Given the description of an element on the screen output the (x, y) to click on. 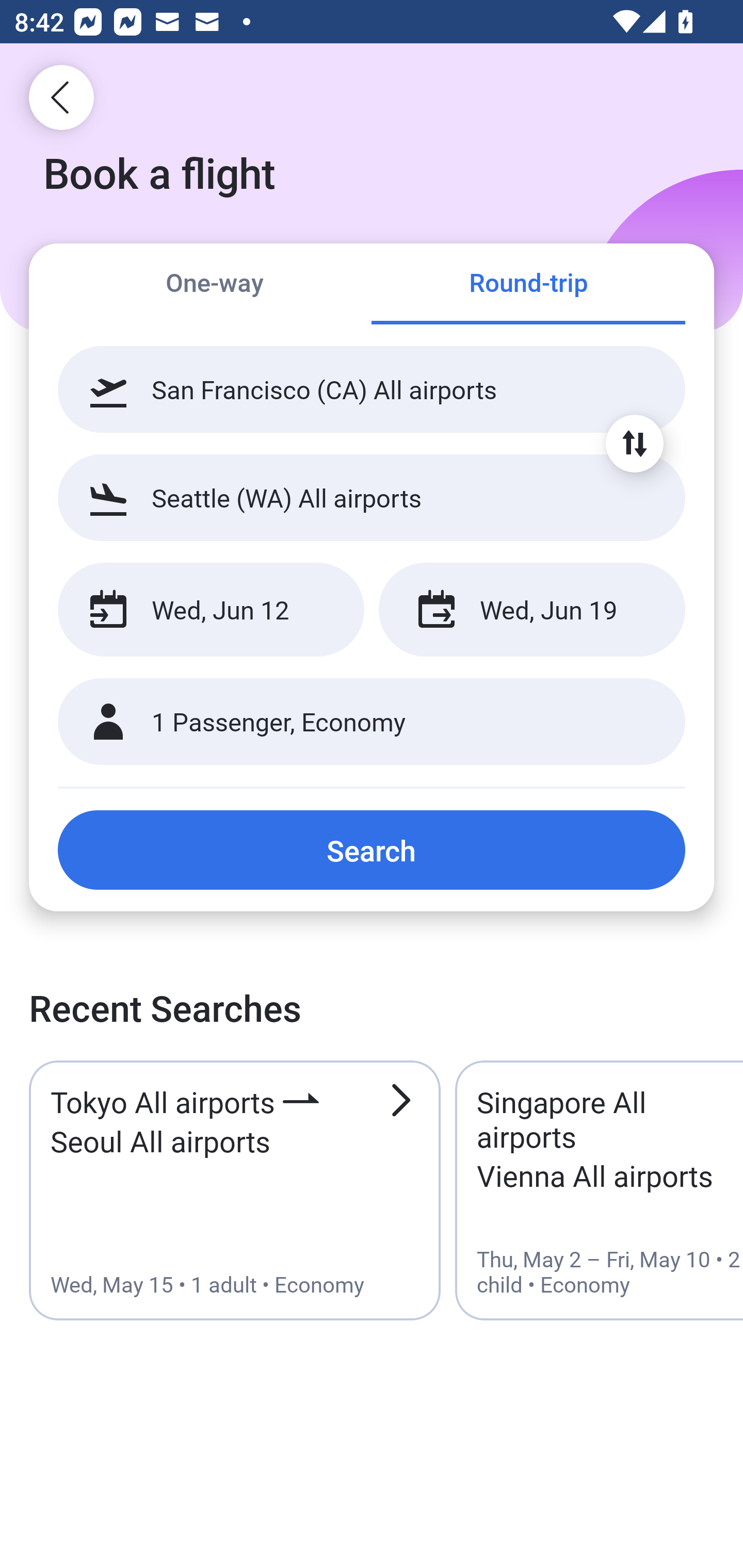
One-way (214, 284)
San Francisco (CA) All airports (371, 389)
Seattle (WA) All airports (371, 497)
Wed, Jun 12 (210, 609)
Wed, Jun 19 (531, 609)
1 Passenger, Economy (371, 721)
Search (371, 849)
